Given the description of an element on the screen output the (x, y) to click on. 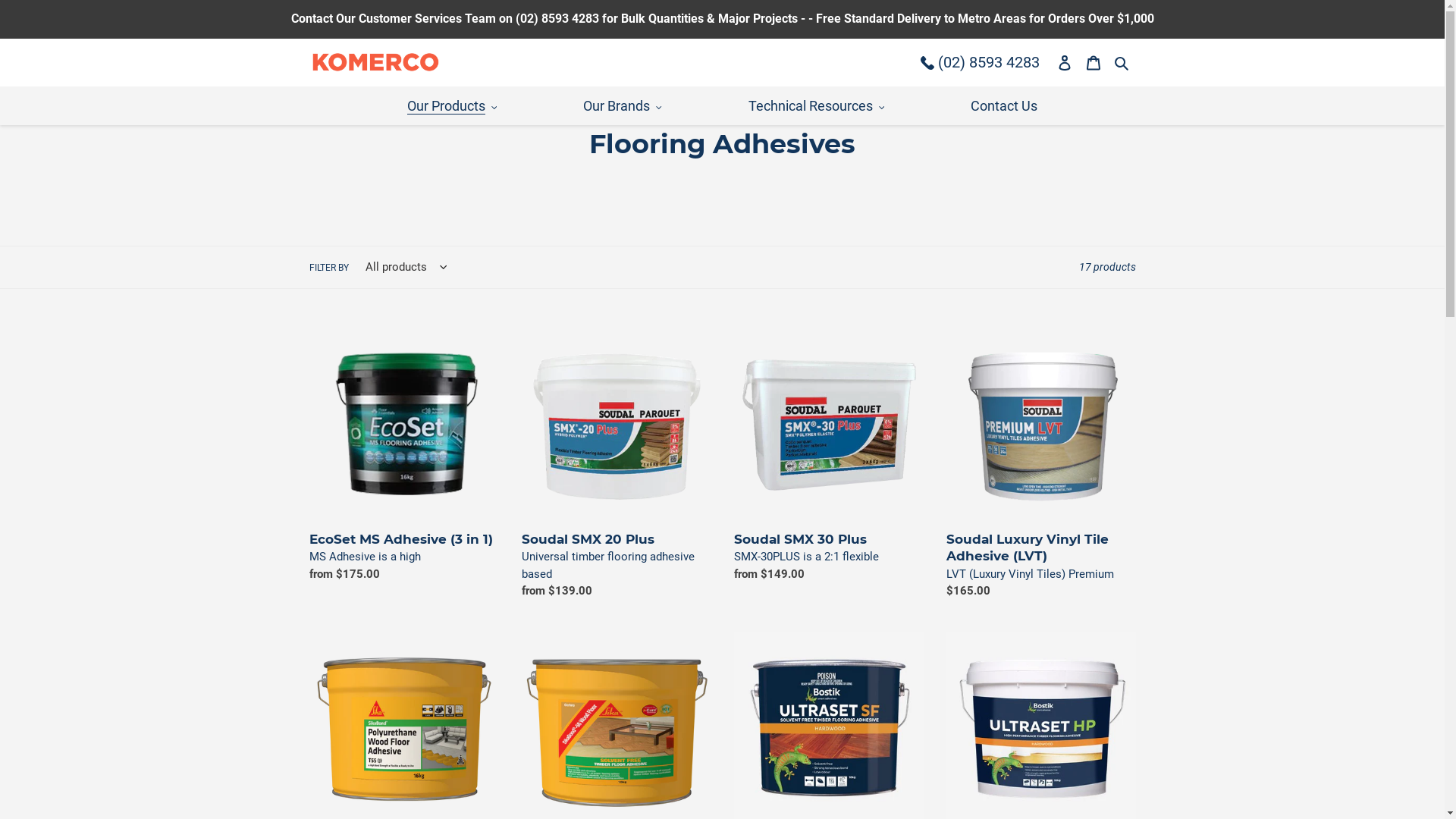
Soudal SMX 30 Plus Element type: text (828, 459)
(02) 8593 4283 Element type: text (979, 62)
Our Products Element type: text (452, 105)
Soudal SMX 20 Plus Element type: text (616, 467)
Log in Element type: text (1065, 61)
Search Element type: text (1121, 62)
EcoSet MS Adhesive (3 in 1) Element type: text (403, 459)
Cart Element type: text (1093, 61)
Contact Us Element type: text (1003, 105)
Our Brands Element type: text (622, 105)
Soudal Luxury Vinyl Tile Adhesive (LVT) Element type: text (1040, 467)
Technical Resources Element type: text (816, 105)
